Given the description of an element on the screen output the (x, y) to click on. 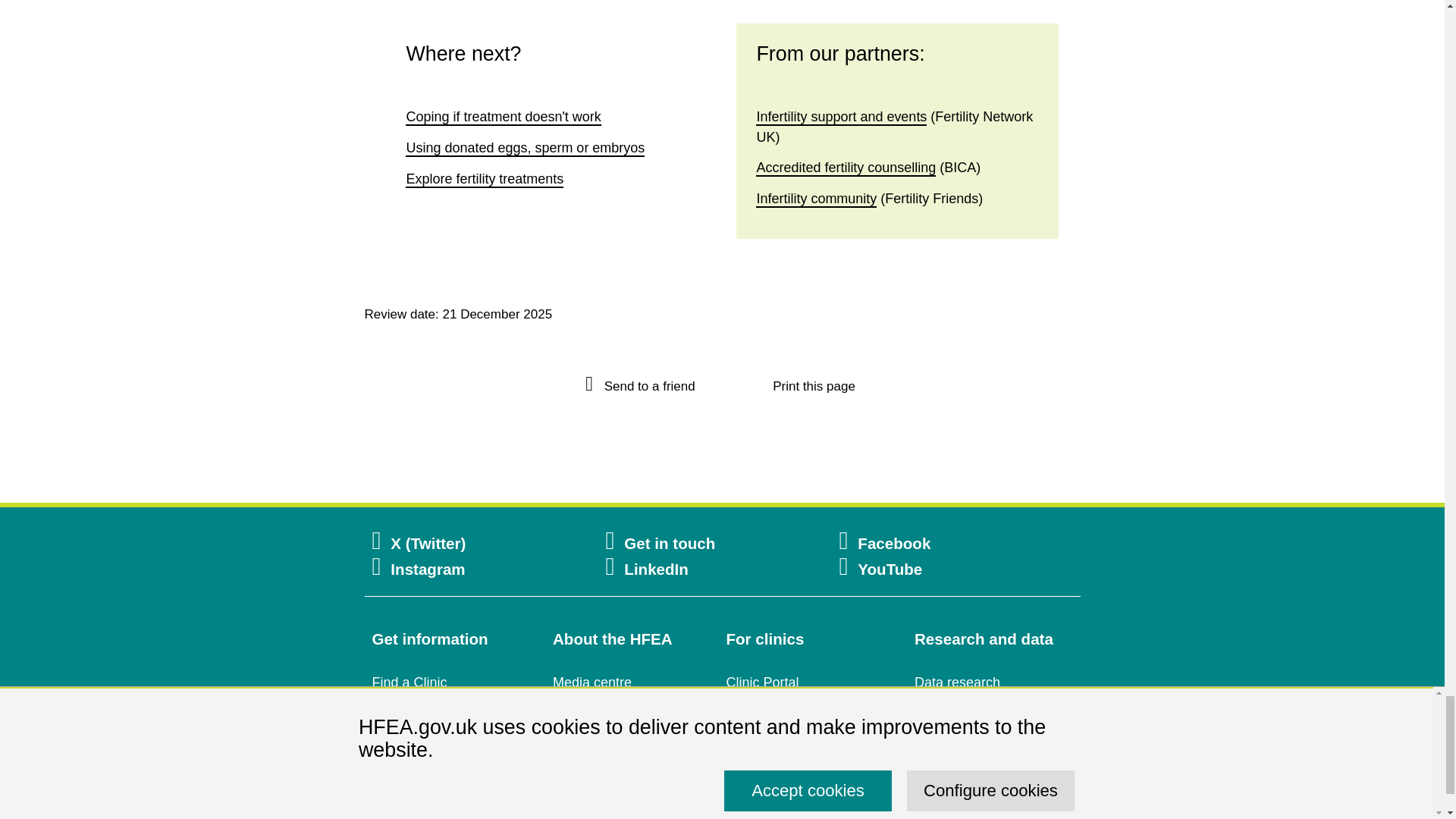
Using donated sperm, eggs or embryos in treatment (525, 148)
Data research (957, 682)
Media centre (592, 682)
Coping if treatment doesn't work (502, 117)
A-Z fertility glossary (431, 796)
Explore all treatments (484, 179)
HFEA dashboard (965, 739)
